Given the description of an element on the screen output the (x, y) to click on. 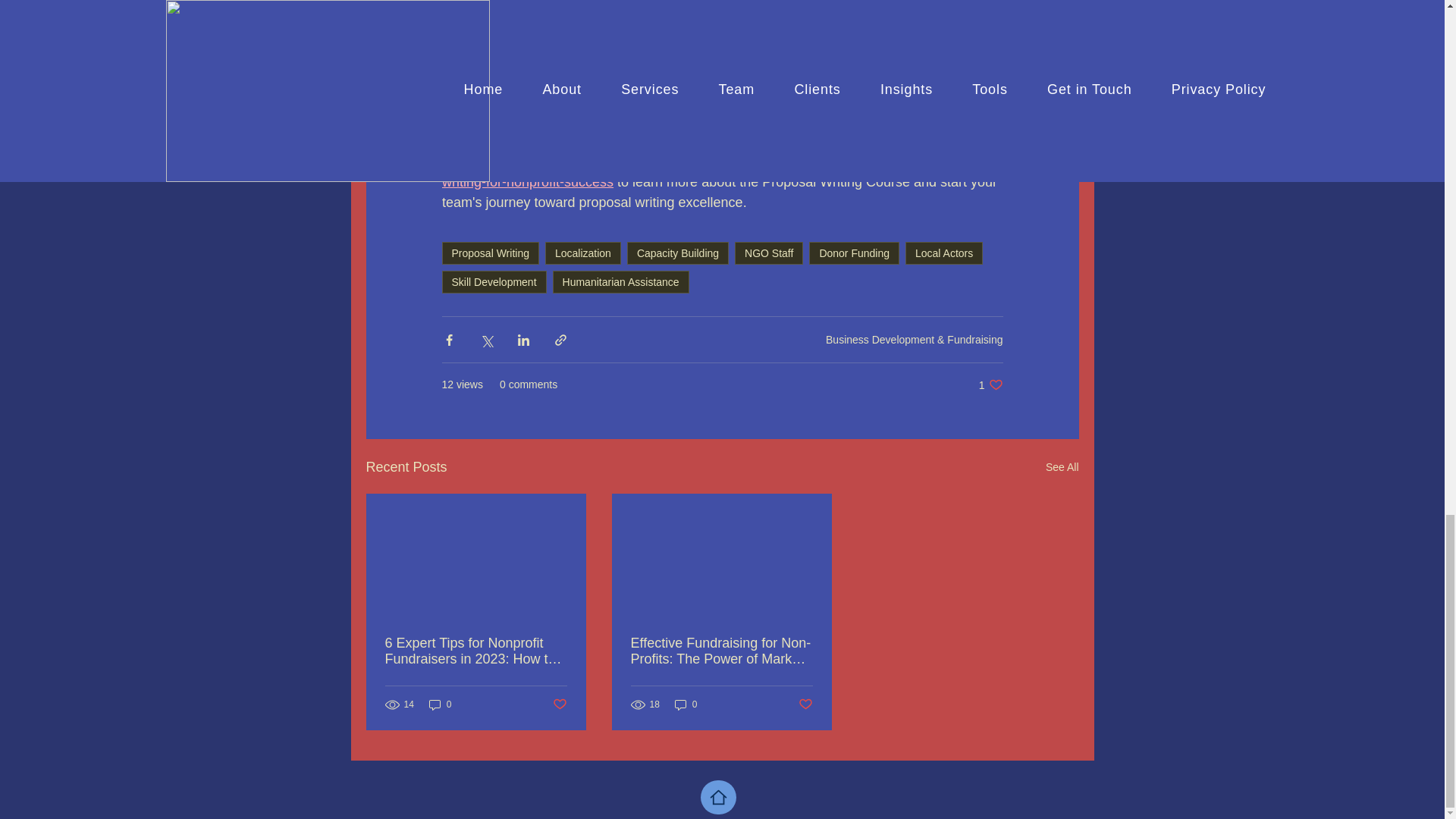
0 (990, 384)
Humanitarian Assistance (685, 703)
Localization (620, 282)
Proposal Writing (582, 252)
Donor Funding (489, 252)
Skill Development (854, 252)
See All (493, 282)
0 (1061, 467)
Post not marked as liked (440, 703)
NGO Staff (804, 704)
Local Actors (769, 252)
Capacity Building (943, 252)
